Given the description of an element on the screen output the (x, y) to click on. 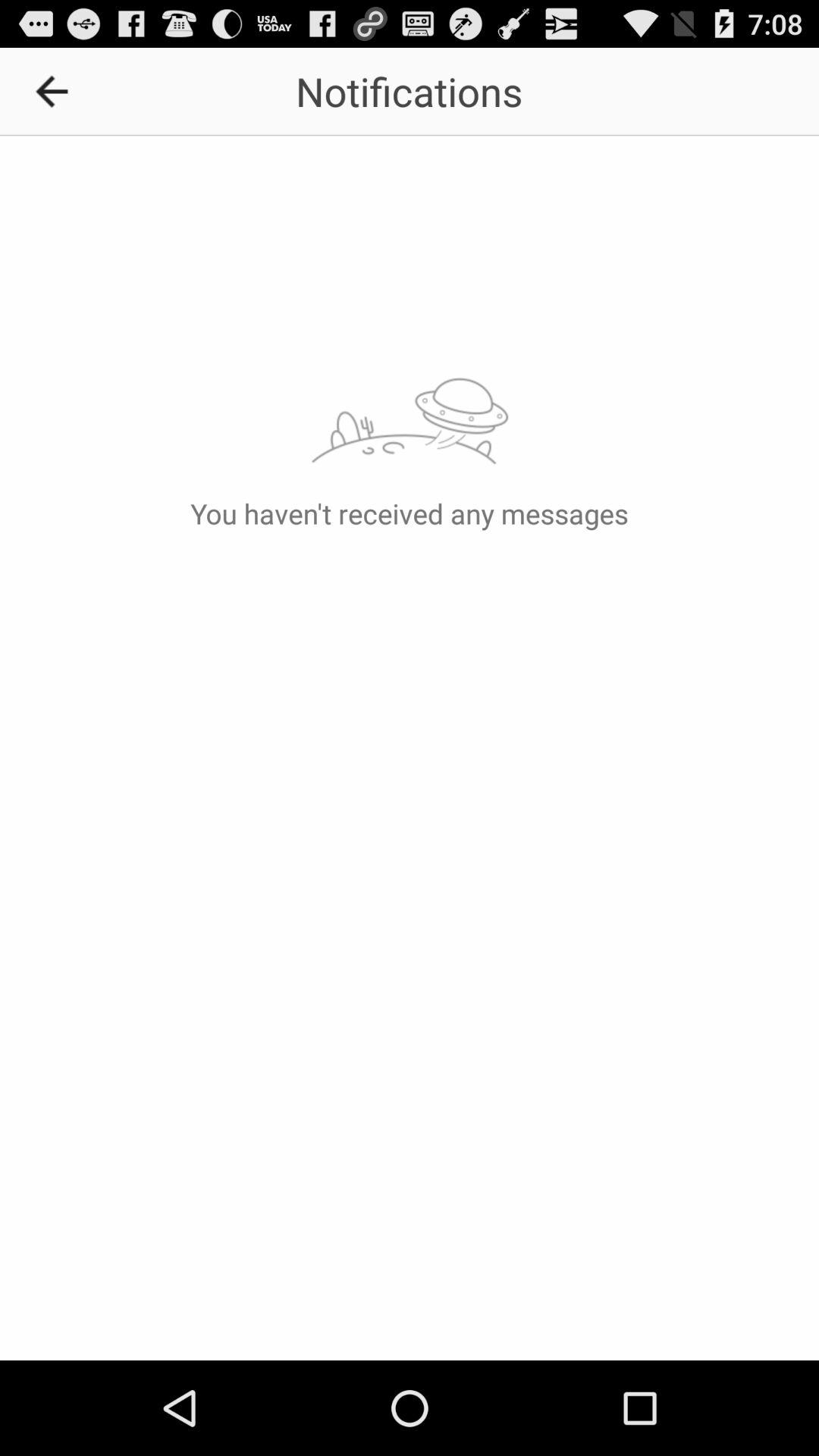
flip until icon (57, 91)
